Given the description of an element on the screen output the (x, y) to click on. 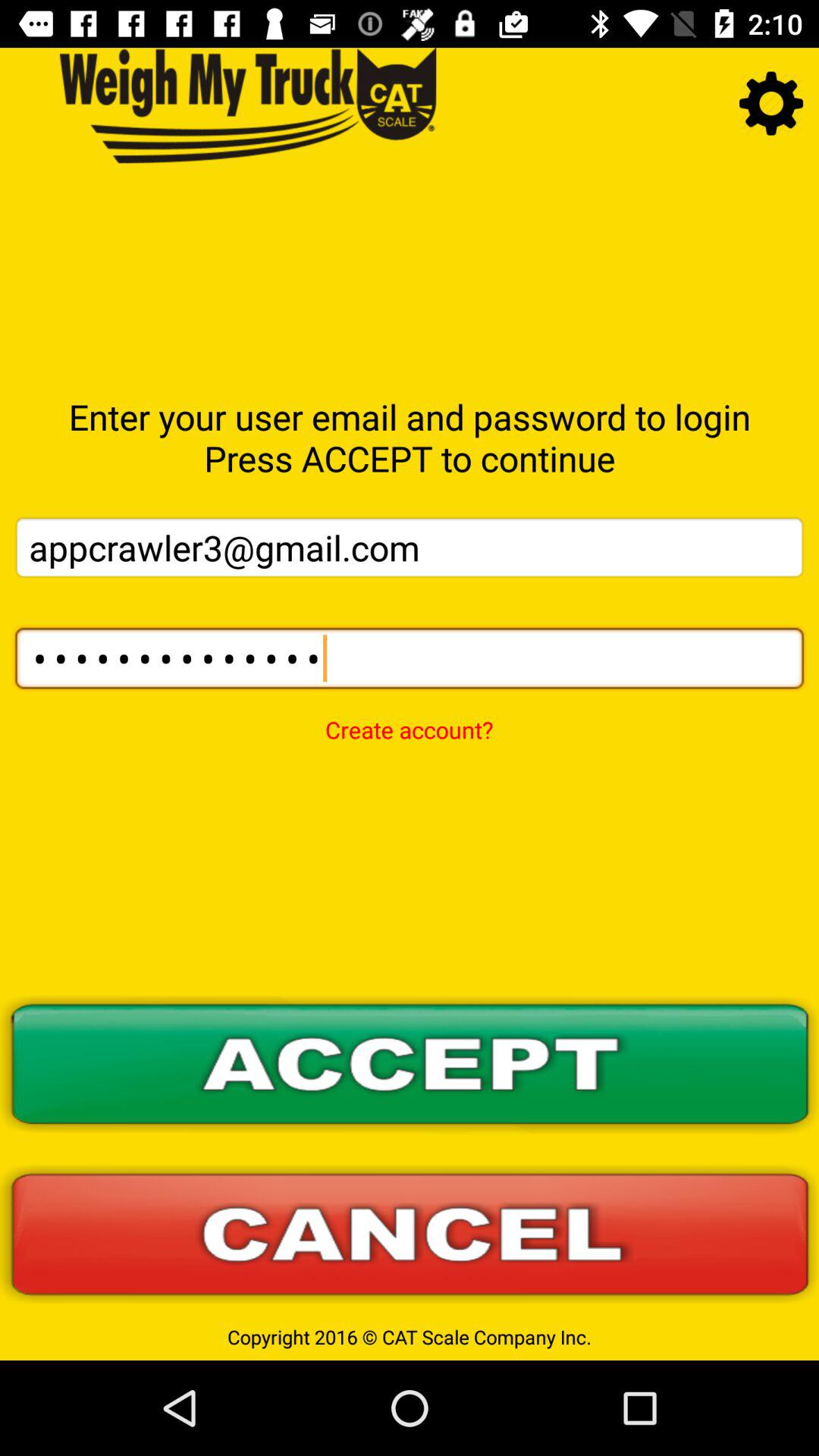
click the icon above copyright 2016 cat item (409, 1234)
